Given the description of an element on the screen output the (x, y) to click on. 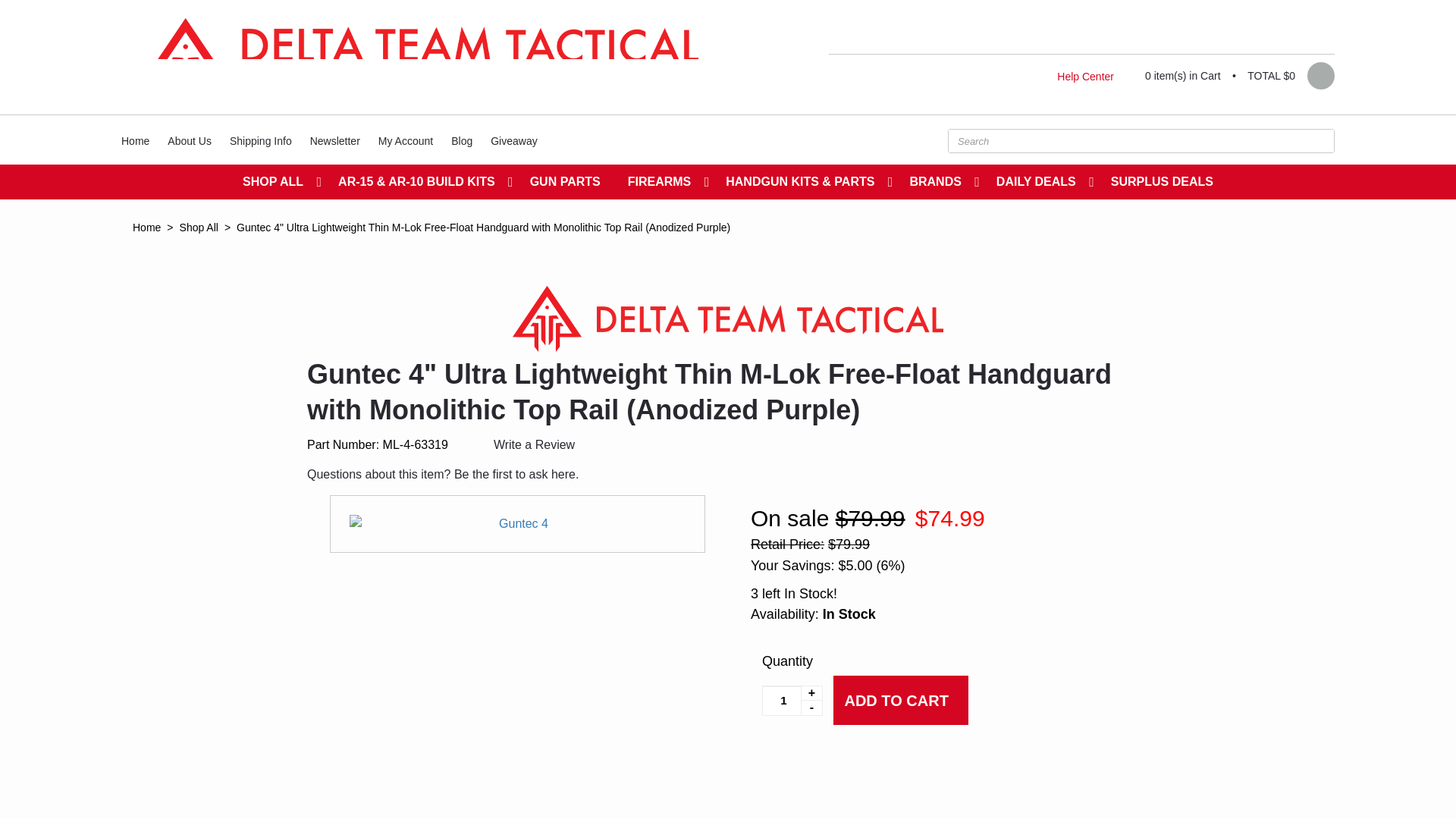
My Account (405, 140)
Newsletter (335, 140)
Shipping Info (261, 140)
SEARCH ICO (1319, 140)
Help Center (1086, 76)
SHOP ALL (276, 181)
1 (791, 700)
Giveaway (513, 140)
About Us (189, 140)
Home (135, 140)
